Given the description of an element on the screen output the (x, y) to click on. 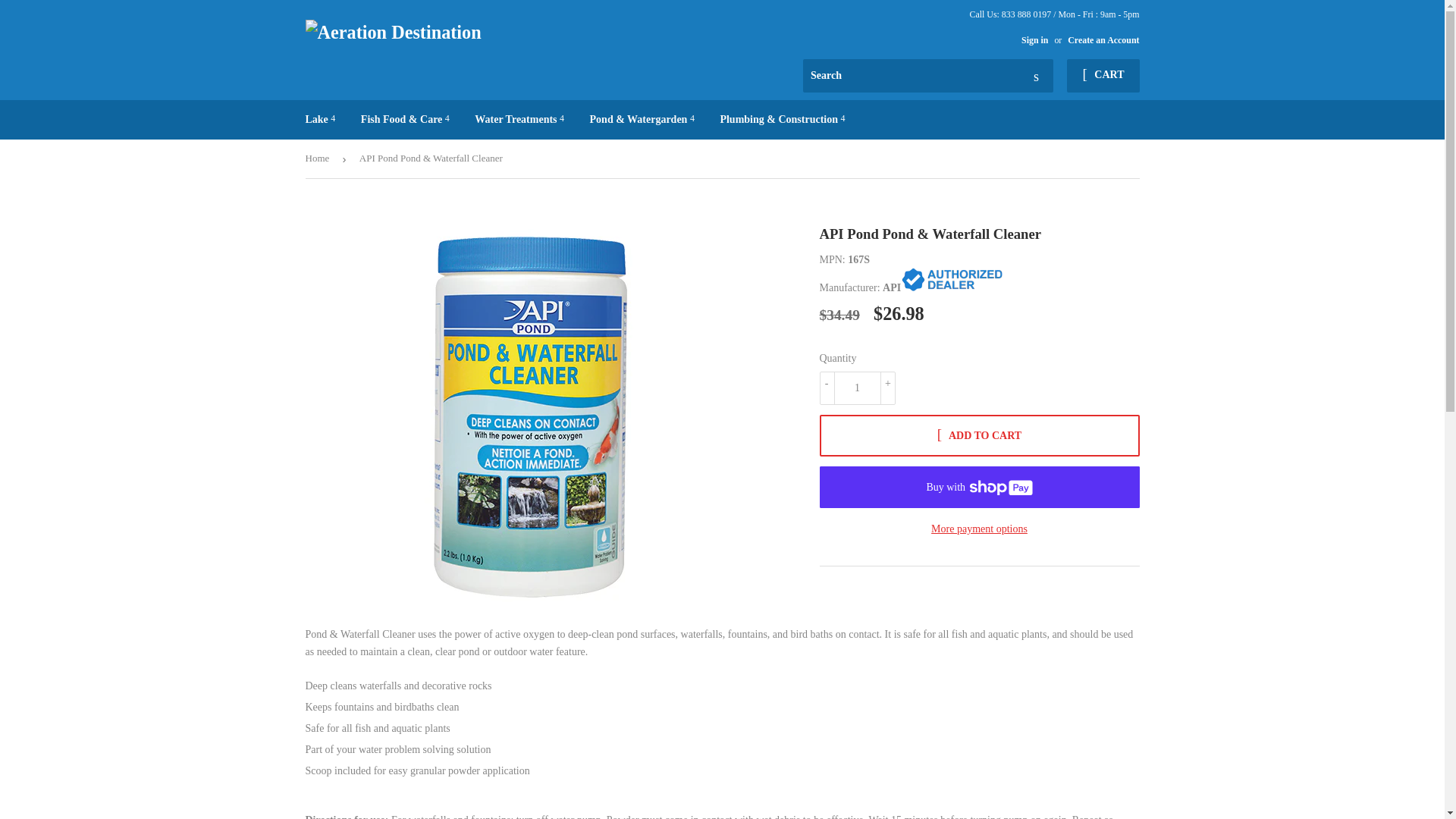
Search (1035, 76)
Create an Account (1102, 40)
CART (1102, 75)
Sign in (1035, 40)
1 (856, 387)
